Given the description of an element on the screen output the (x, y) to click on. 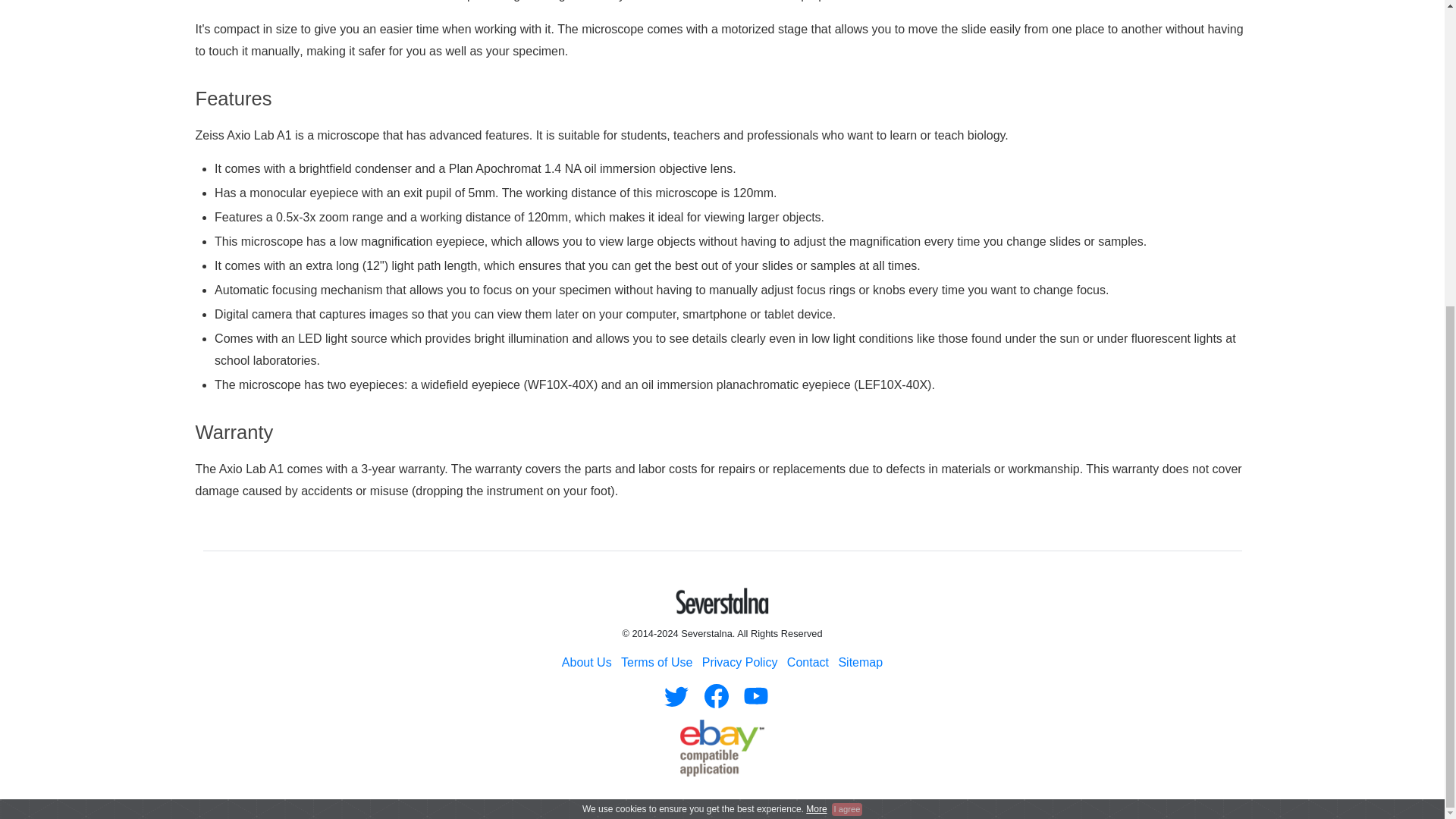
About Us (586, 662)
Terms of Use (657, 662)
Privacy Policy (739, 662)
Contact (807, 662)
